Given the description of an element on the screen output the (x, y) to click on. 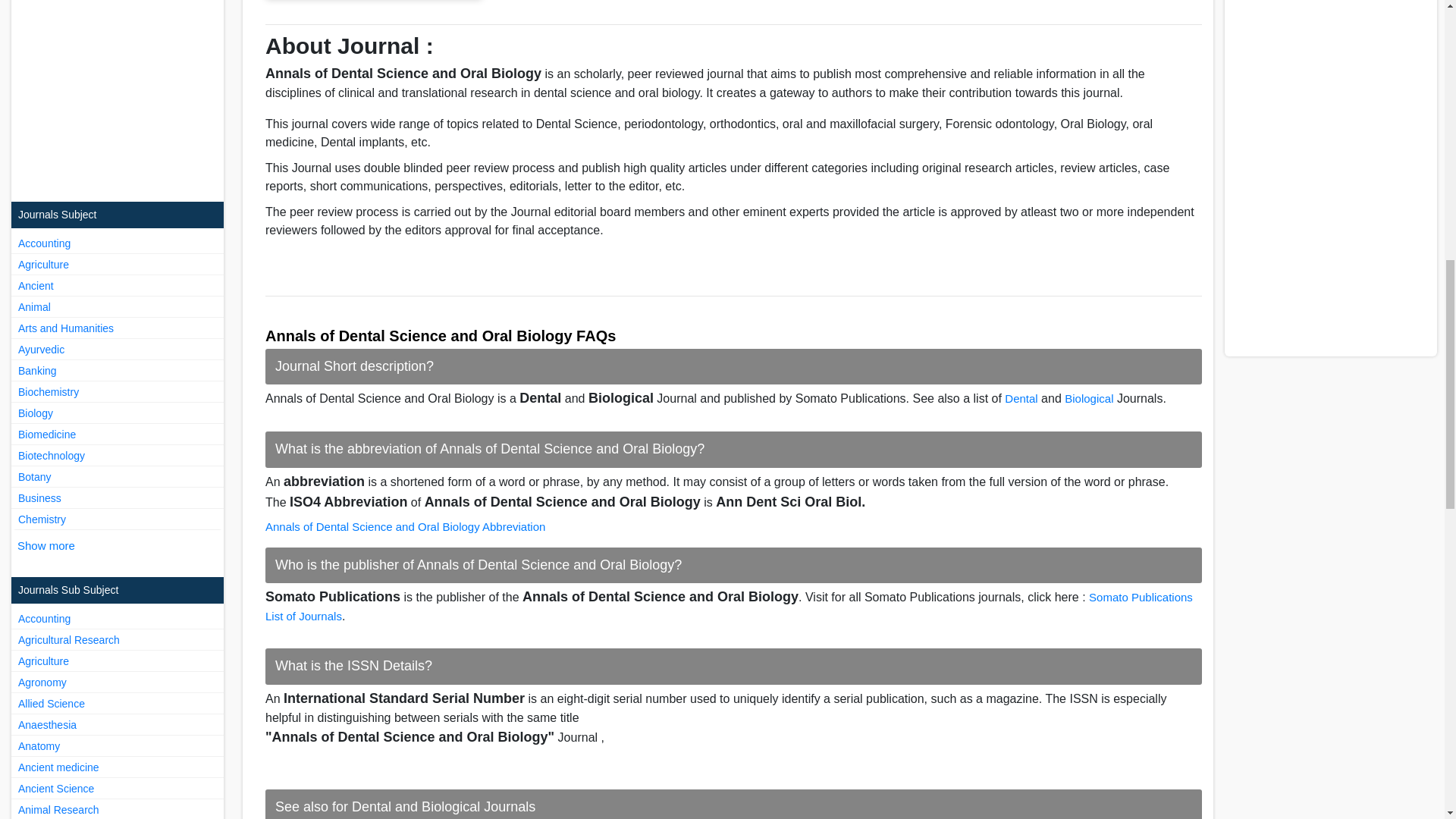
Annals of Dental Science and Oral Biology (372, 7)
Advertisement (117, 91)
